Given the description of an element on the screen output the (x, y) to click on. 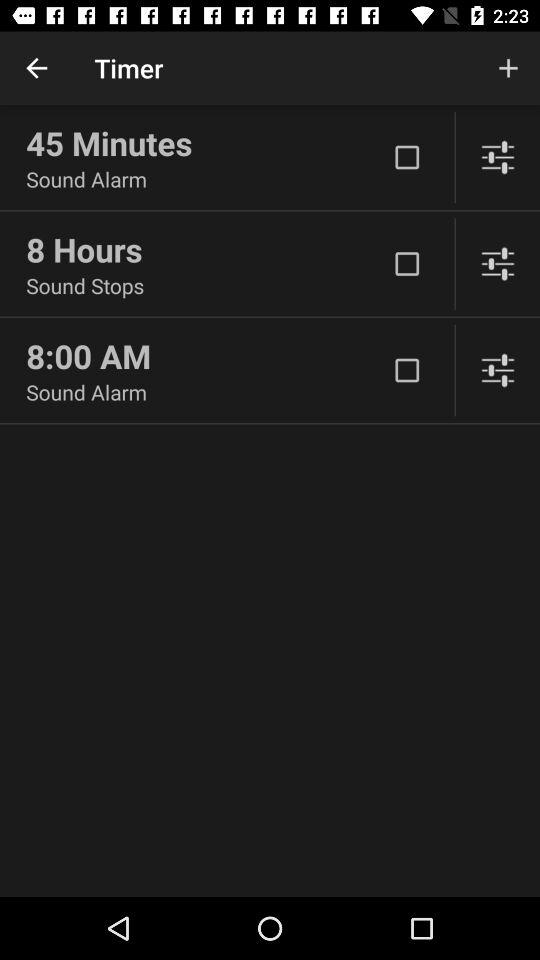
turn on sound stops icon (206, 285)
